Given the description of an element on the screen output the (x, y) to click on. 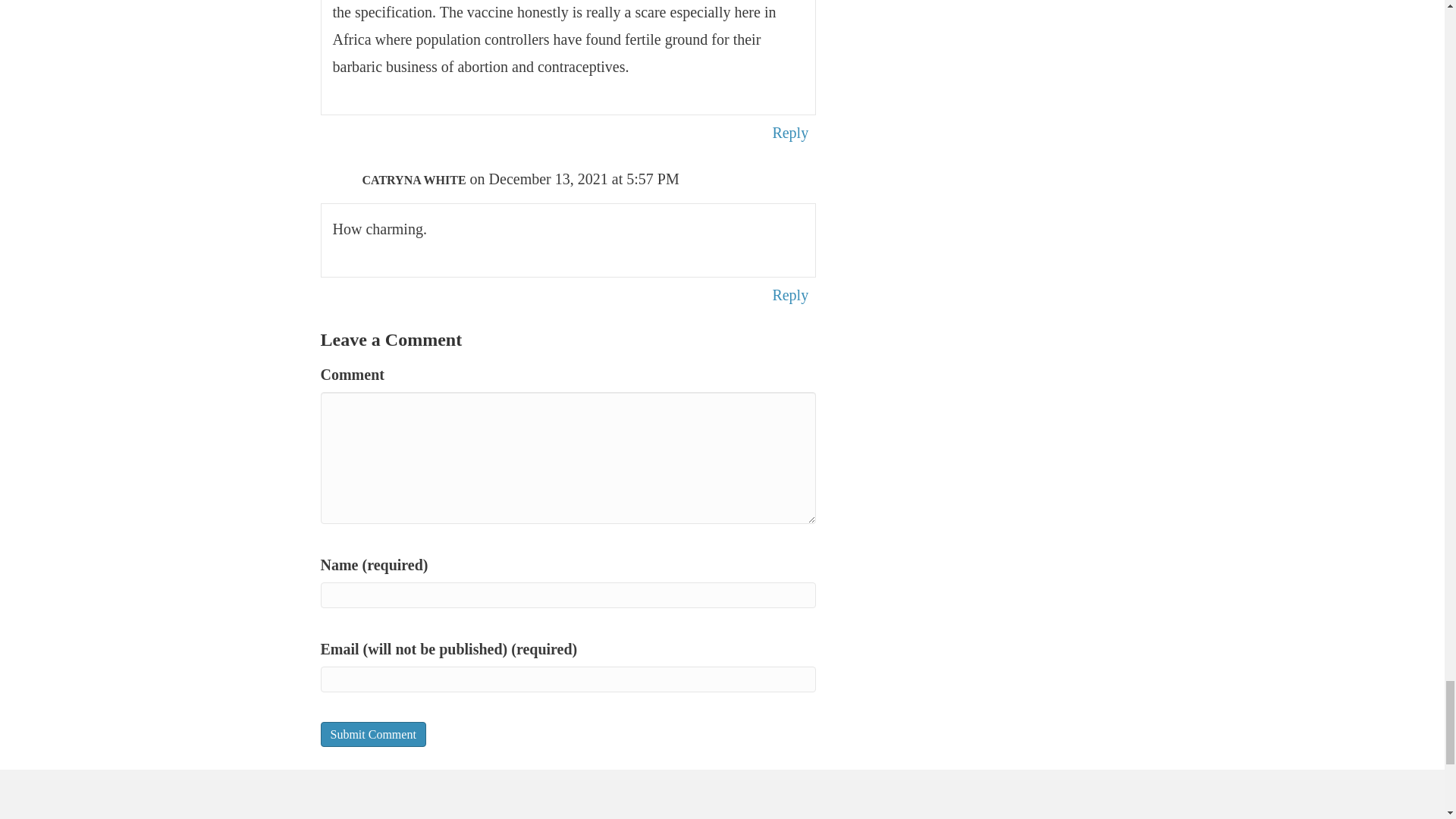
Submit Comment (372, 733)
